Given the description of an element on the screen output the (x, y) to click on. 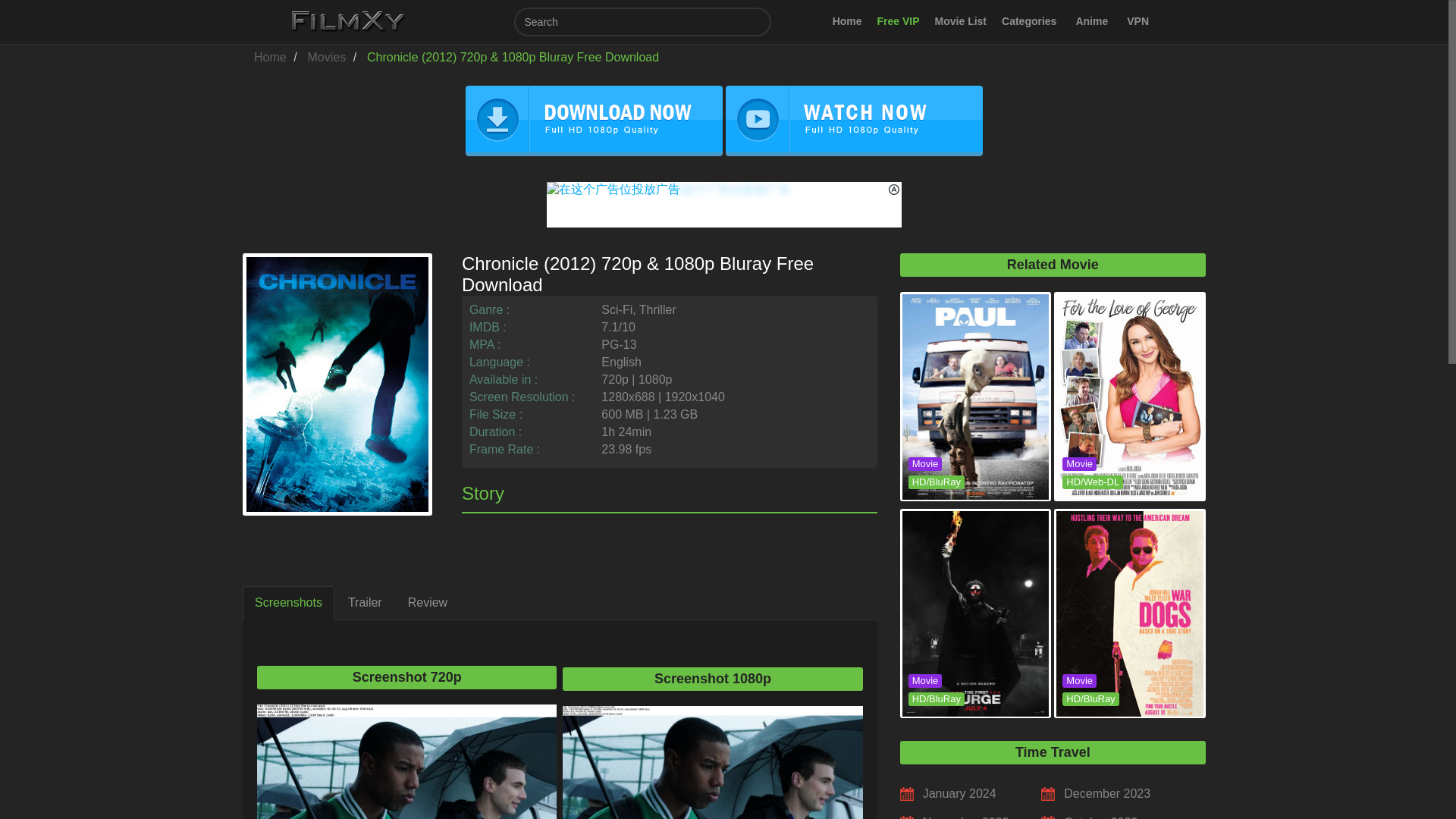
VPN (1137, 21)
Home (847, 21)
October 2023 (1100, 817)
Movie List (960, 21)
Categories (1030, 21)
Trailer (365, 602)
Watching movies online (269, 56)
Free VIP (898, 21)
November 2023 (966, 817)
Movies (326, 56)
Movies (326, 56)
Screenshots (288, 602)
January 2024 (959, 793)
Home (269, 56)
December 2023 (1107, 793)
